Given the description of an element on the screen output the (x, y) to click on. 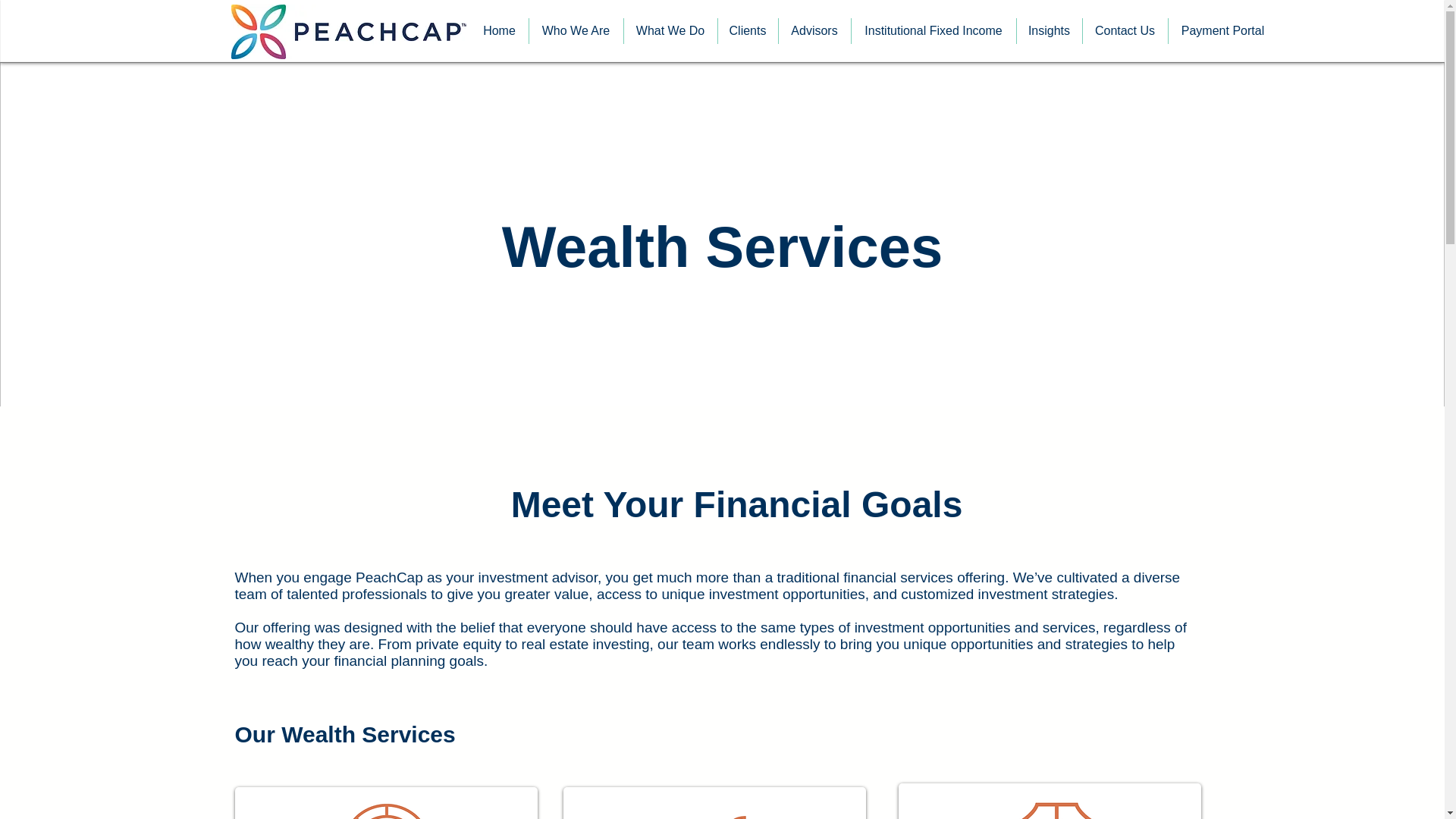
Insights (1048, 31)
Institutional Fixed Income (932, 31)
Advisors (813, 31)
Home (498, 31)
Clients (747, 31)
What We Do (669, 31)
Who We Are (576, 31)
Payment Portal (1221, 31)
Contact Us (1125, 31)
